Given the description of an element on the screen output the (x, y) to click on. 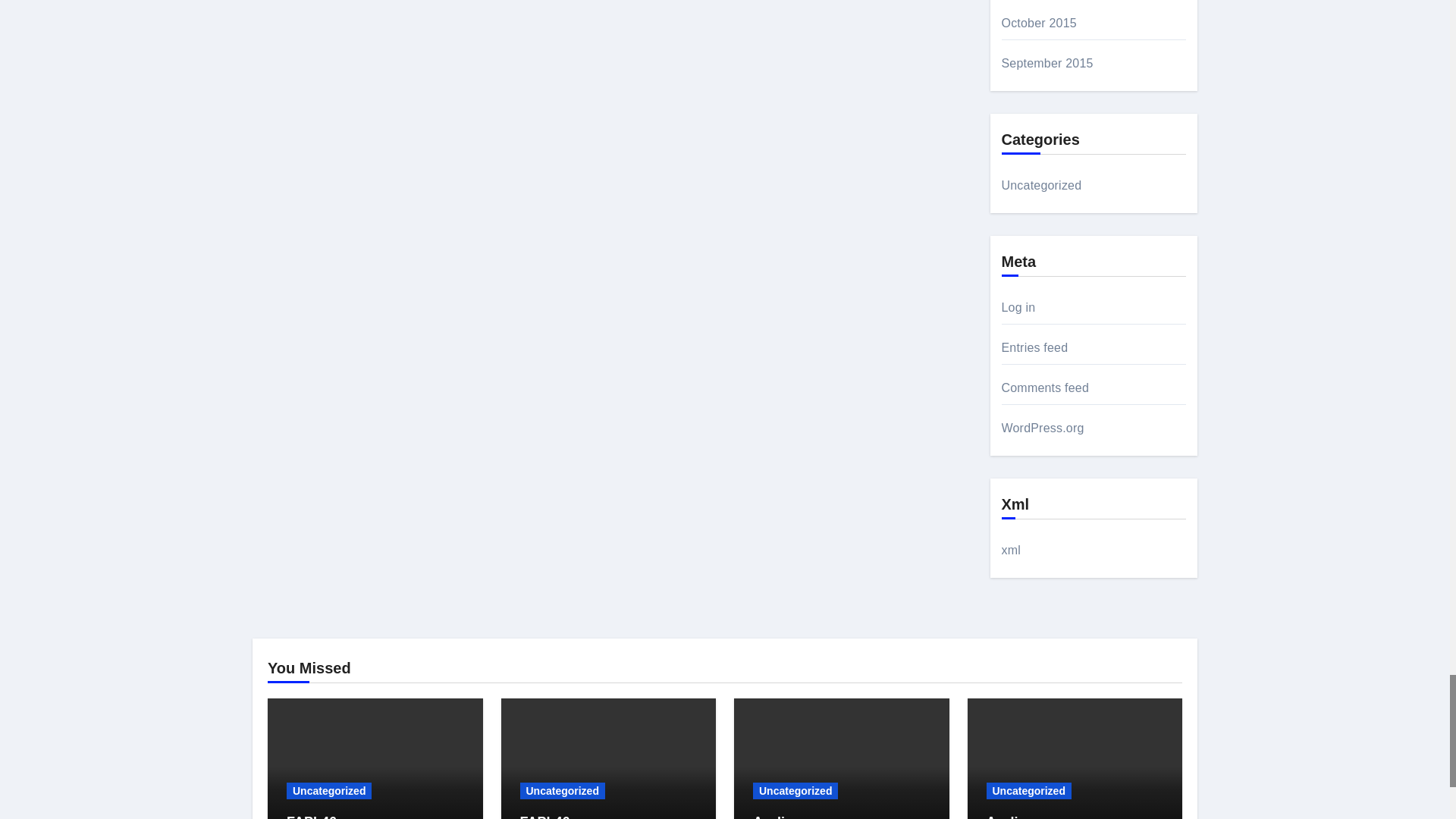
Permalink to: FAPI-46 (311, 816)
Permalink to: FAPI-46 (544, 816)
Permalink to: Azeliragon (1020, 816)
Permalink to: Azeliragon (787, 816)
